Given the description of an element on the screen output the (x, y) to click on. 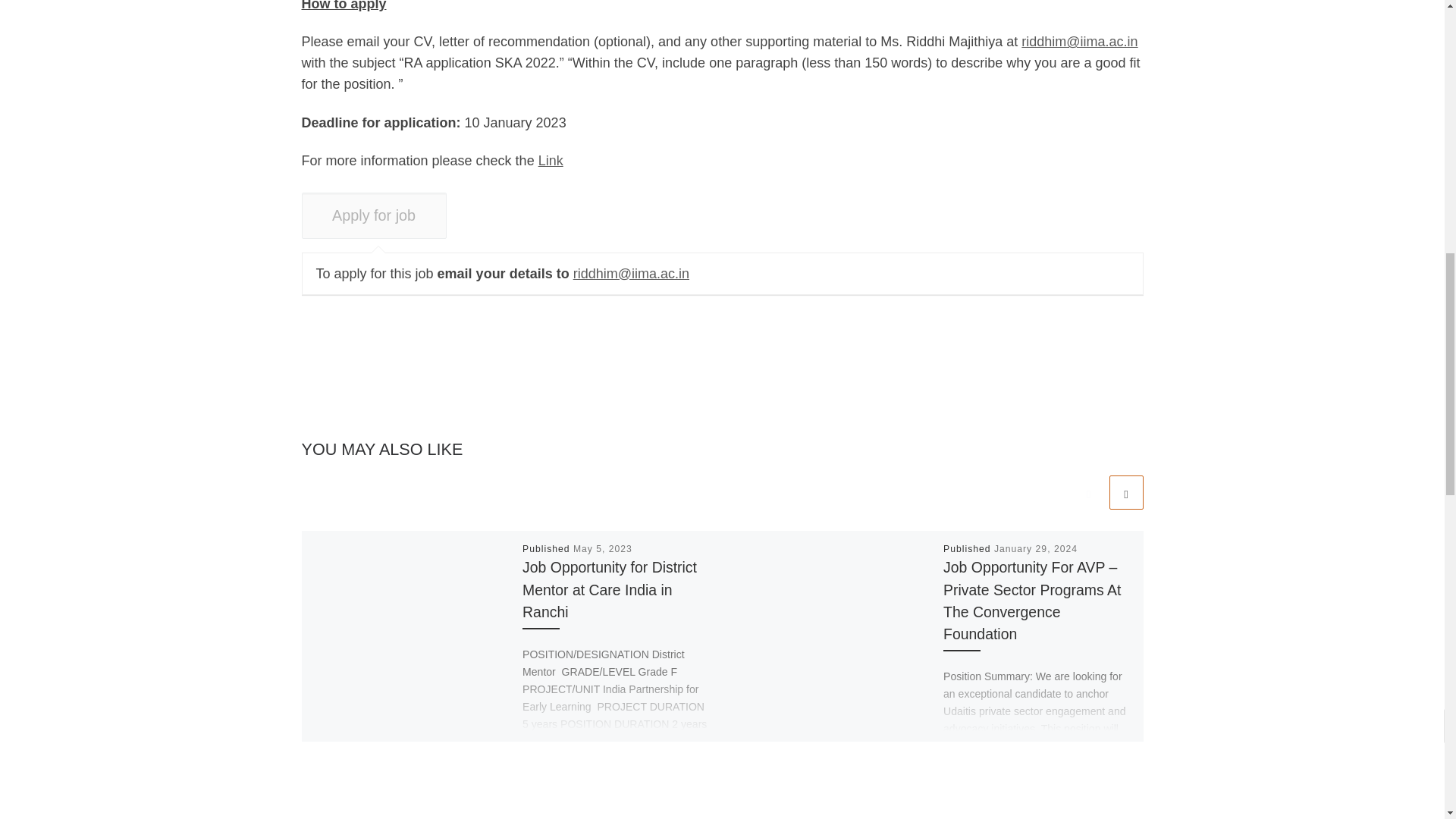
Apply for job (373, 215)
Previous related articles (1088, 492)
Next related articles (1125, 492)
